Given the description of an element on the screen output the (x, y) to click on. 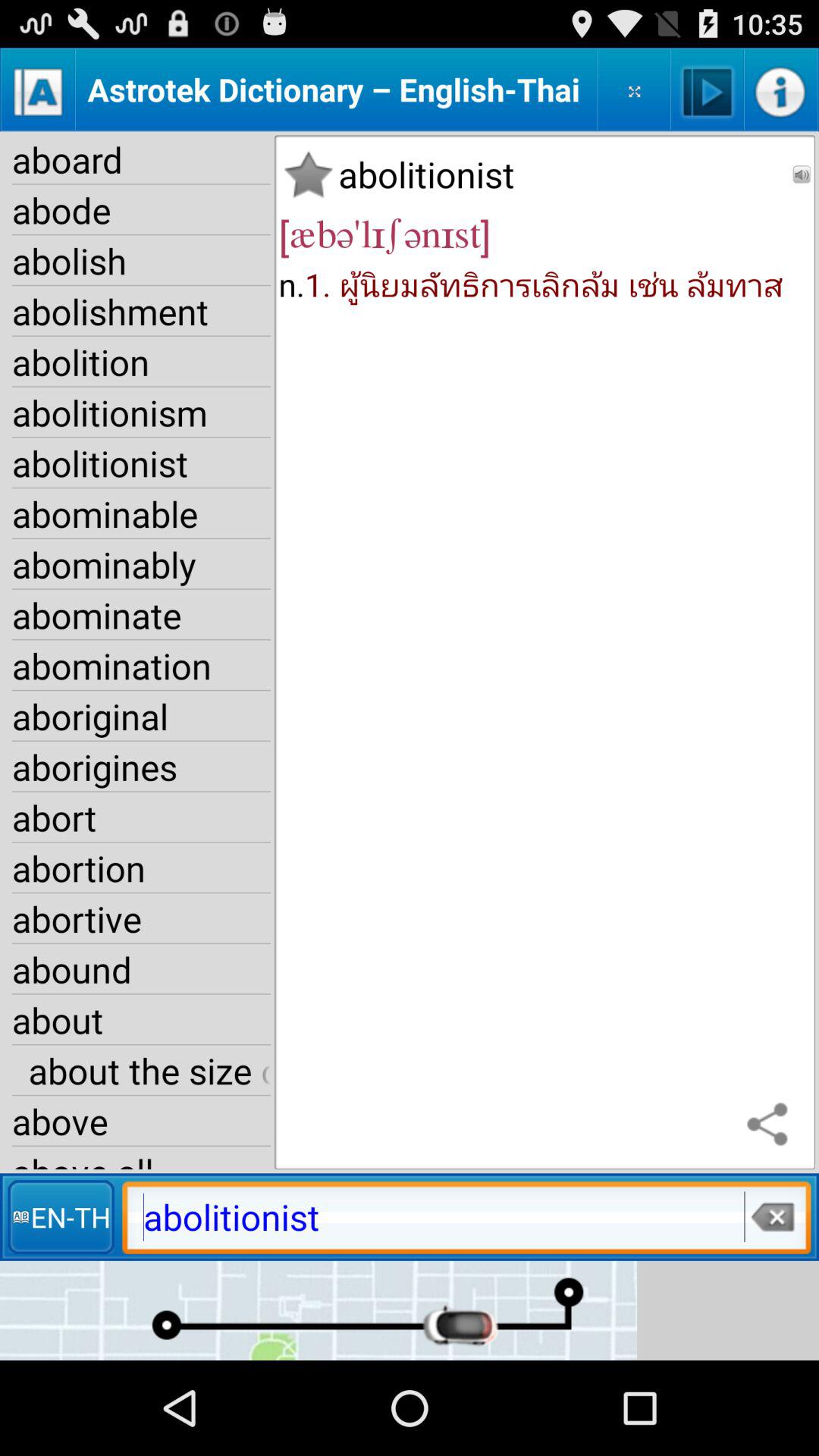
go to previous (801, 174)
